Given the description of an element on the screen output the (x, y) to click on. 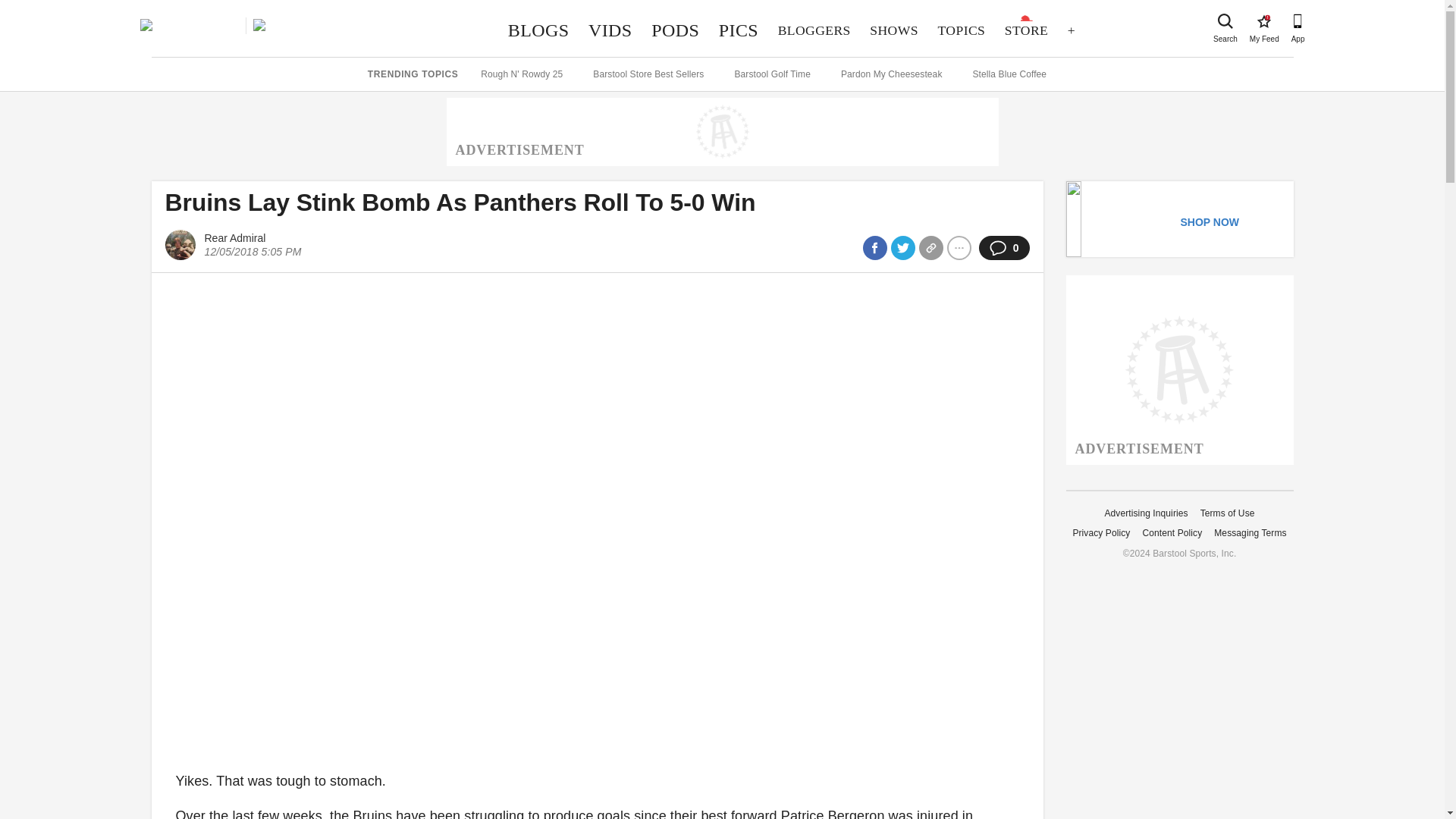
PODS (675, 30)
SHOWS (894, 30)
TOPICS (961, 30)
BLOGGERS (814, 30)
BLOGS (537, 30)
PICS (738, 30)
VIDS (610, 30)
STORE (1263, 20)
Search (1026, 30)
